Given the description of an element on the screen output the (x, y) to click on. 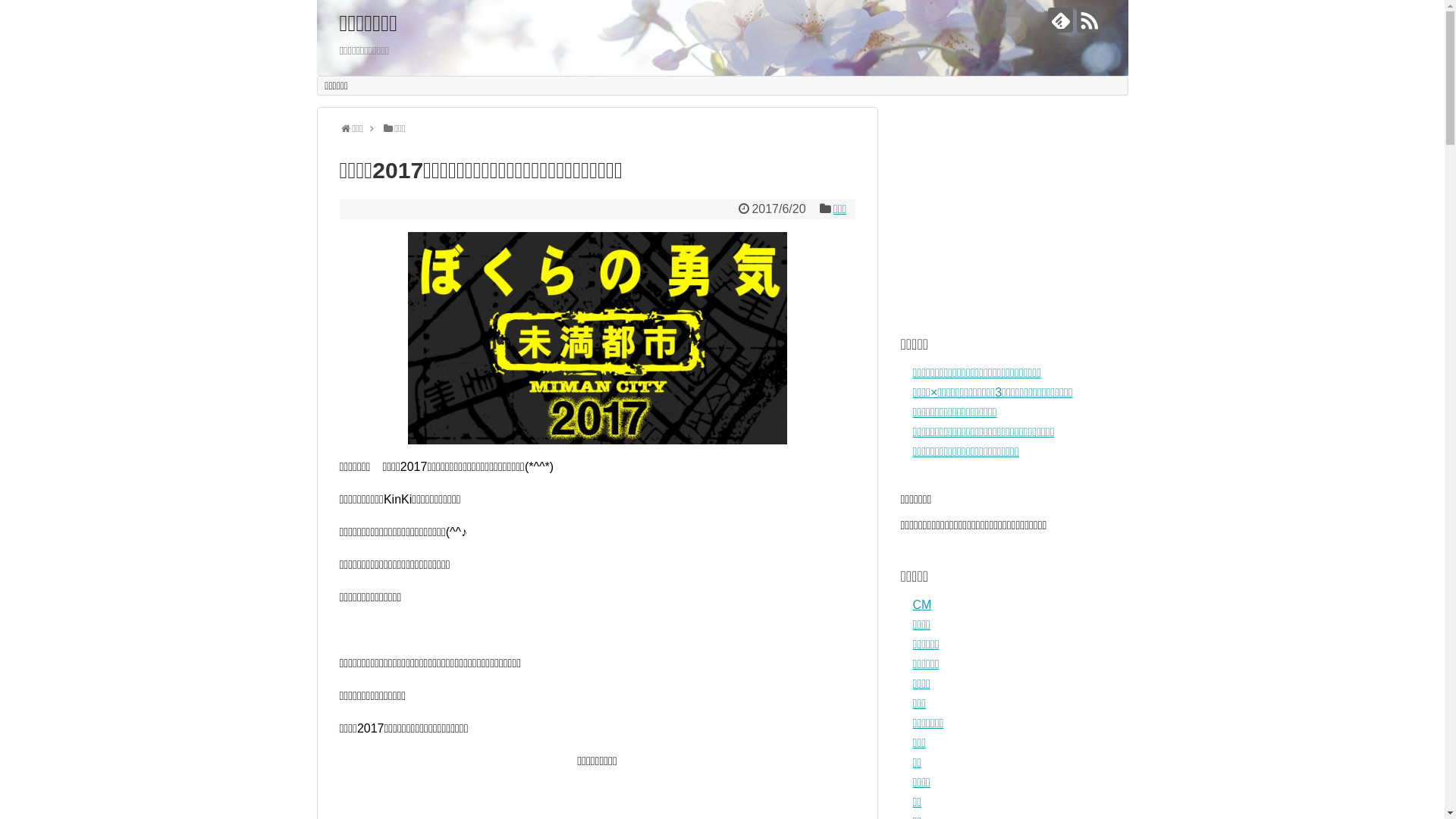
Advertisement Element type: hover (1014, 201)
CM Element type: text (922, 604)
